Given the description of an element on the screen output the (x, y) to click on. 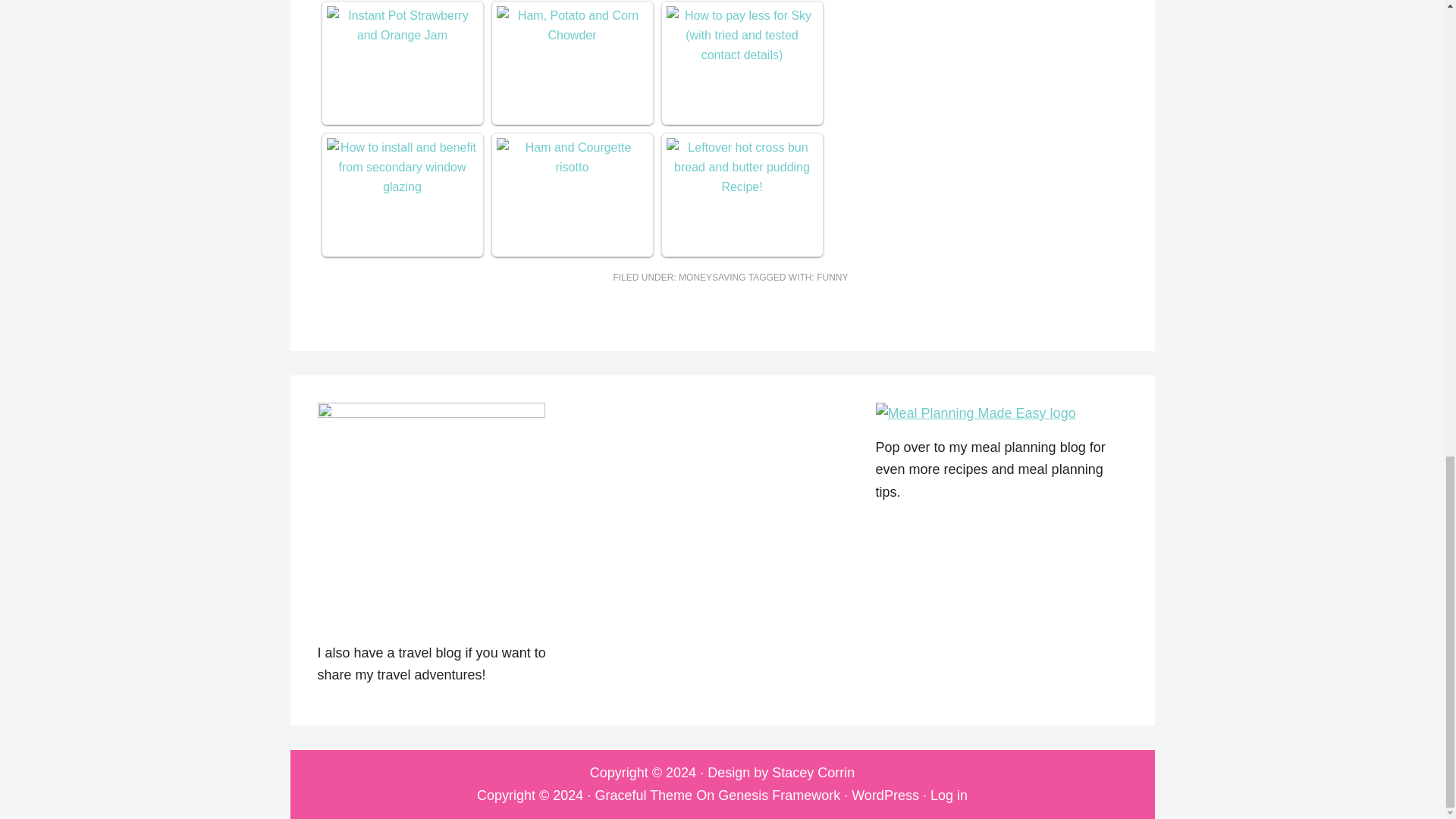
How to install and benefit from secondary window glazing.... (401, 167)
Instant Pot ham, potato and corn chowder.... (571, 25)
Instant Pot Strawberry and Orange Jam.... (401, 25)
